Given the description of an element on the screen output the (x, y) to click on. 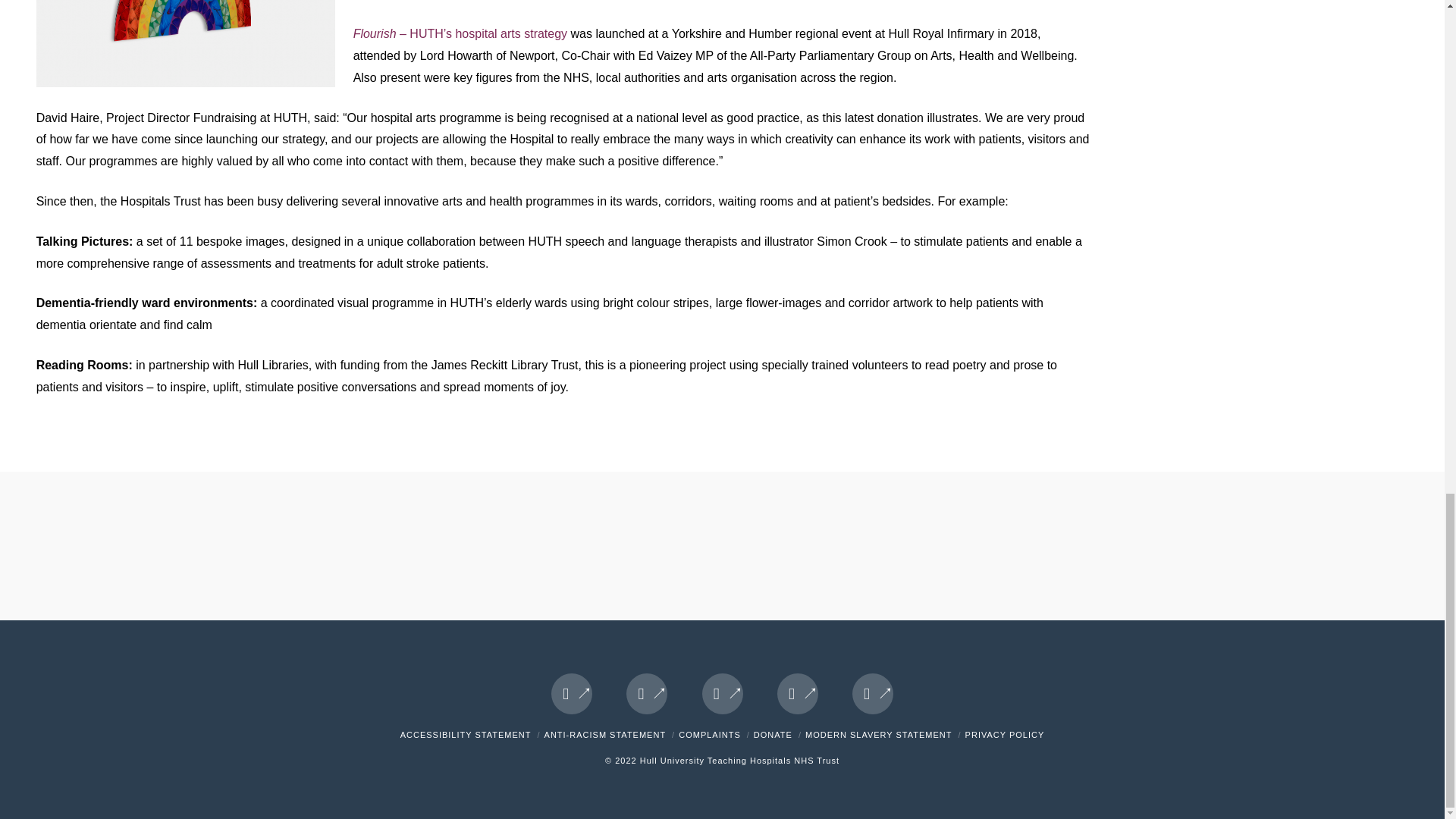
Facebook (571, 693)
LinkedIn (721, 693)
Instagram (872, 693)
YouTube (797, 693)
